Given the description of an element on the screen output the (x, y) to click on. 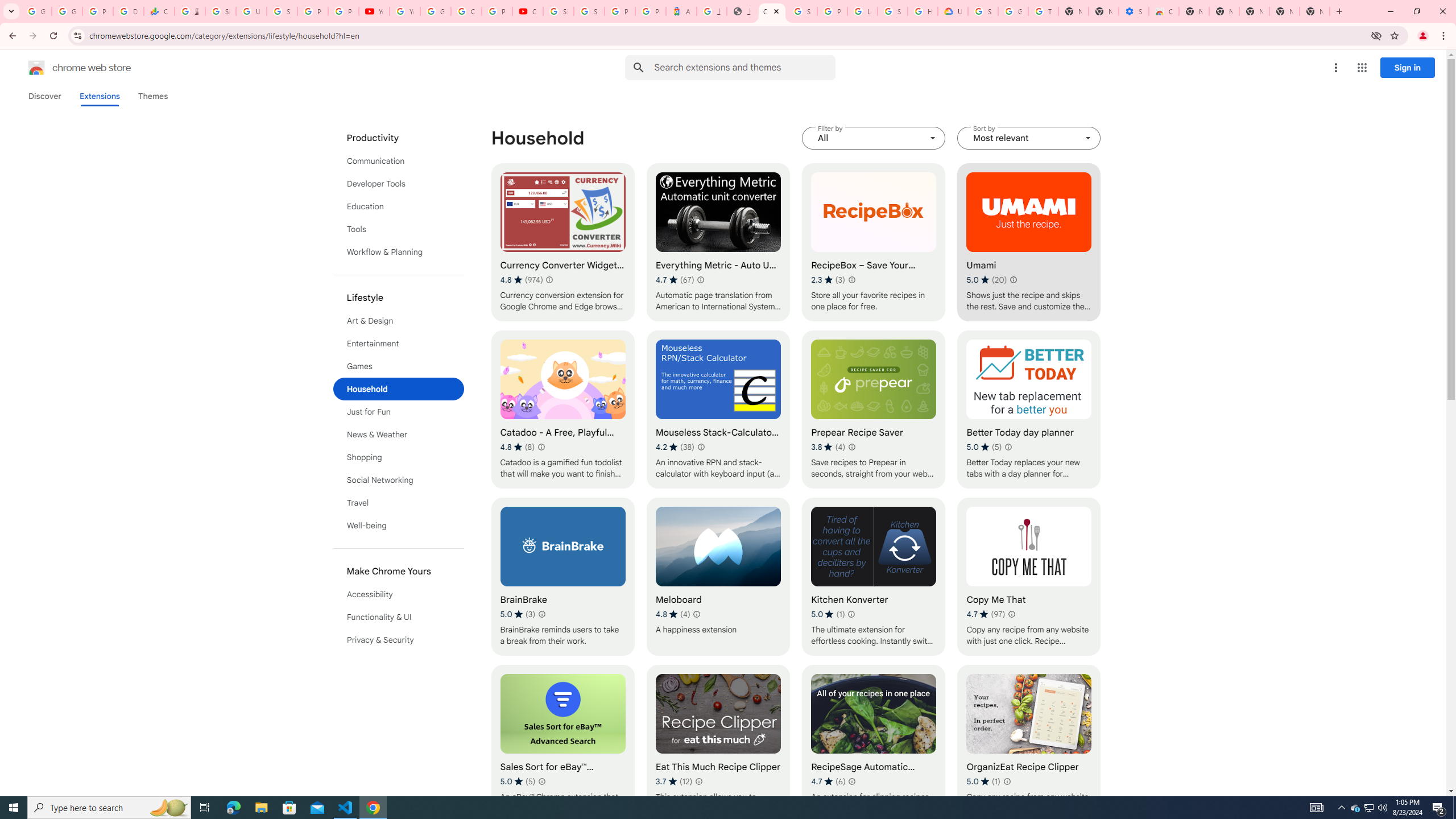
Travel (398, 502)
Art & Design (398, 320)
Average rating 3.8 out of 5 stars. 4 ratings. (827, 446)
List of categories in Chrome Web Store. (398, 388)
Prepear Recipe Saver (874, 409)
Average rating 4.8 out of 5 stars. 4 ratings. (672, 613)
Themes (152, 95)
Catadoo - A Free, Playful and Fun Todolist! (562, 409)
Learn more about results and reviews "Meloboard" (696, 613)
Well-being (398, 525)
Discover (43, 95)
Shopping (398, 456)
